Given the description of an element on the screen output the (x, y) to click on. 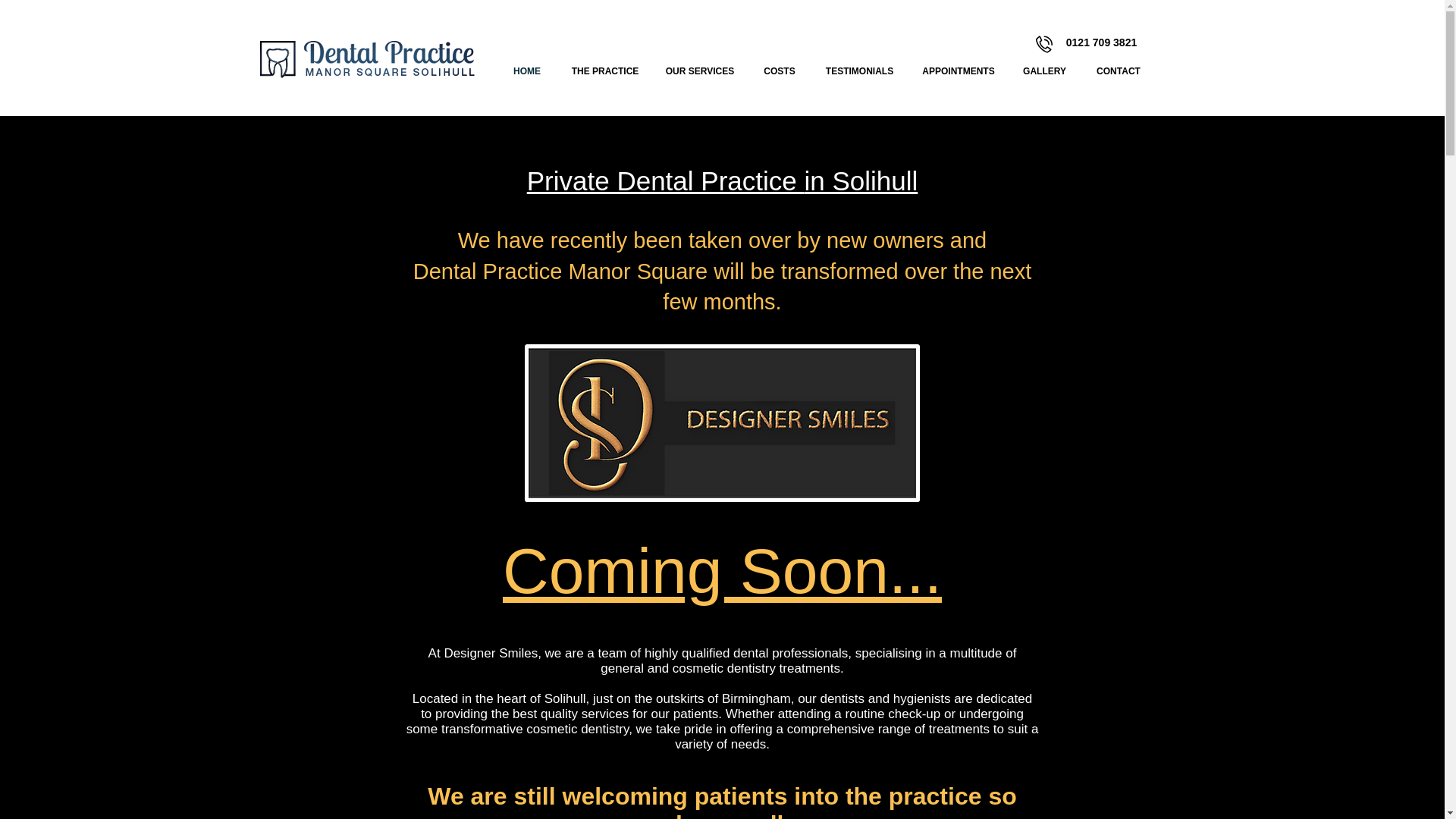
OUR SERVICES (700, 71)
APPOINTMENTS (958, 71)
COSTS (779, 71)
Dental Practice Manor Square Solihull (367, 59)
THE PRACTICE (604, 71)
gold white edge.png (722, 422)
CONTACT (1118, 71)
HOME (526, 71)
TESTIMONIALS (858, 71)
GALLERY (1043, 71)
0121 709 3821 (1101, 42)
